Given the description of an element on the screen output the (x, y) to click on. 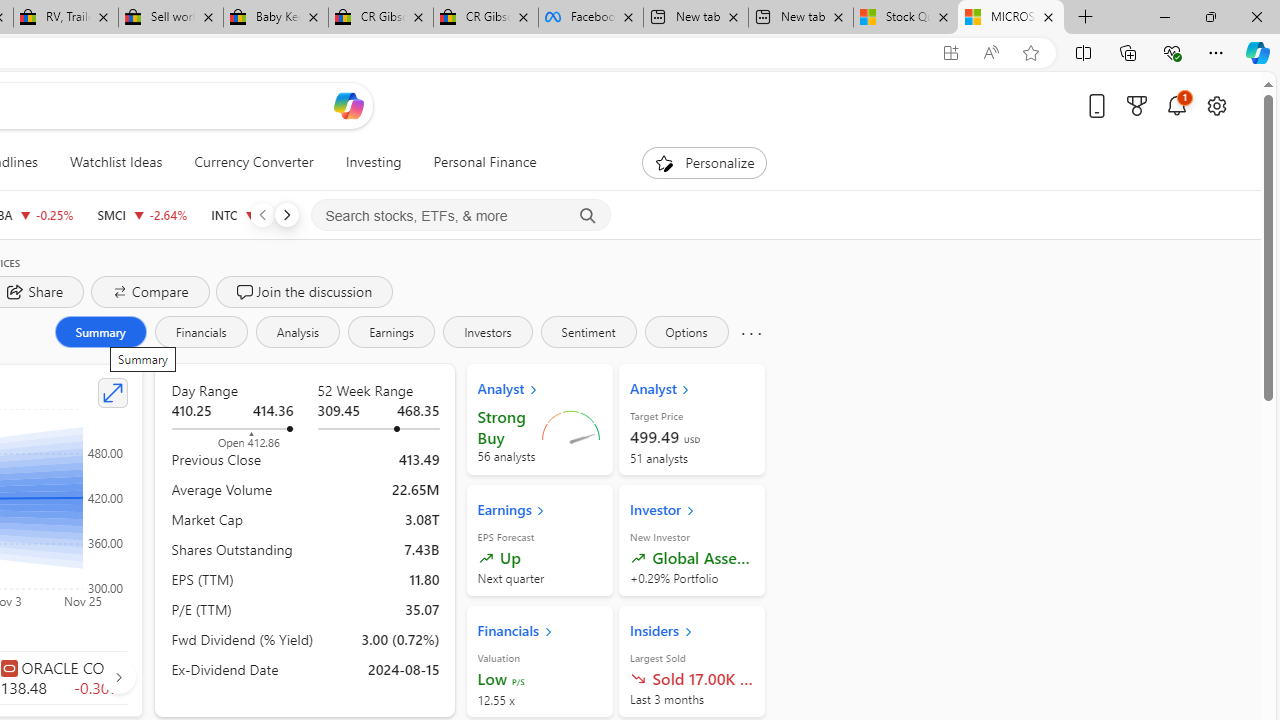
Close (1256, 16)
Split screen (1083, 52)
Investors (487, 331)
Facebook (590, 17)
Browser essentials (1171, 52)
Next (286, 214)
Restore (1210, 16)
Close tab (1048, 16)
INTC INTEL CORPORATION decrease 20.07 -0.06 -0.30% (254, 214)
Copilot (Ctrl+Shift+.) (1258, 52)
Minimize (1164, 16)
Read aloud this page (Ctrl+Shift+U) (991, 53)
